Given the description of an element on the screen output the (x, y) to click on. 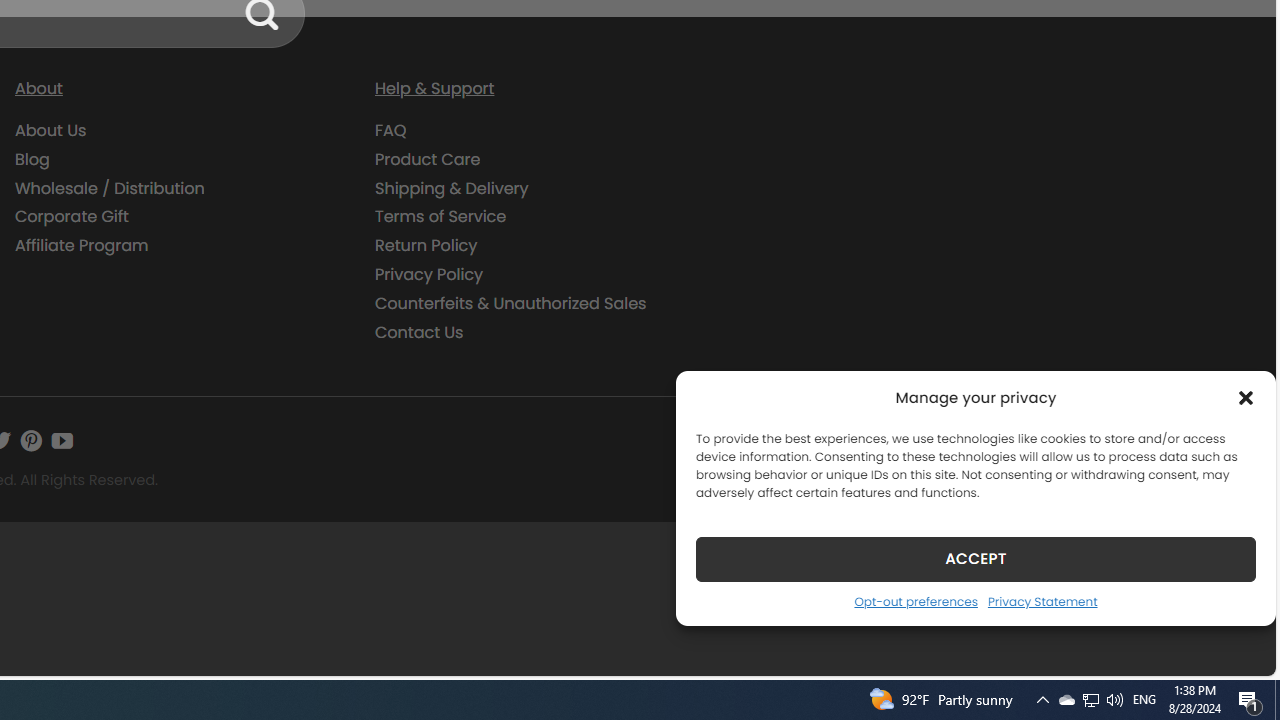
Contact Us (419, 331)
Privacy Policy (429, 273)
Terms of Service (540, 216)
Privacy Policy (540, 274)
Product Care (540, 159)
About Us (51, 130)
Counterfeits & Unauthorized Sales (540, 303)
FAQ (540, 131)
Shipping & Delivery (540, 188)
Wholesale / Distribution (180, 188)
Blog (32, 158)
FAQ (391, 130)
Shipping & Delivery (451, 187)
Affiliate Program (180, 246)
Wholesale / Distribution (109, 187)
